Given the description of an element on the screen output the (x, y) to click on. 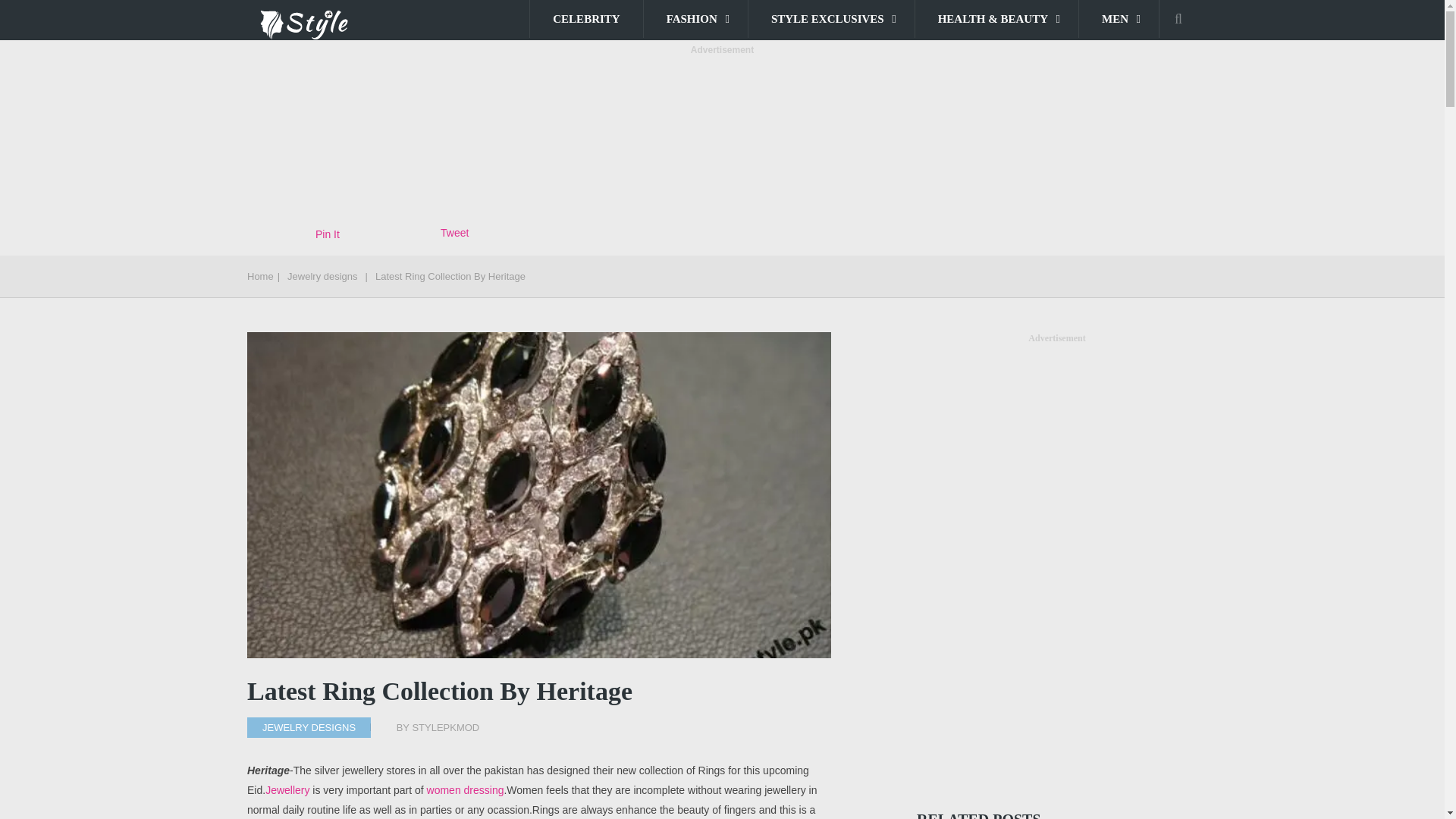
CELEBRITY (585, 18)
FASHION (695, 18)
MEN (1118, 18)
STYLE EXCLUSIVES (831, 18)
